Given the description of an element on the screen output the (x, y) to click on. 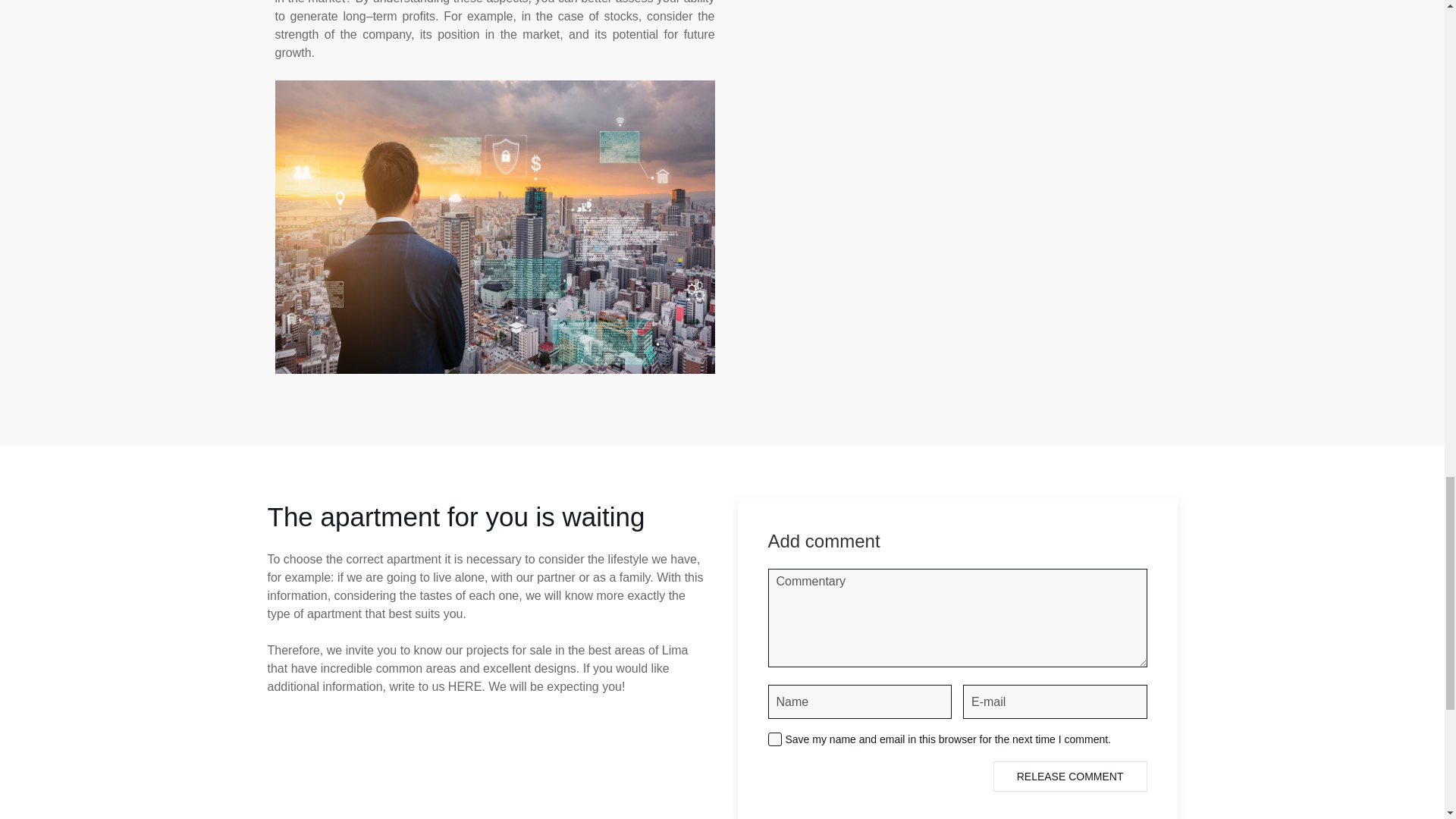
yes (773, 739)
RELEASE COMMENT (1069, 776)
